Given the description of an element on the screen output the (x, y) to click on. 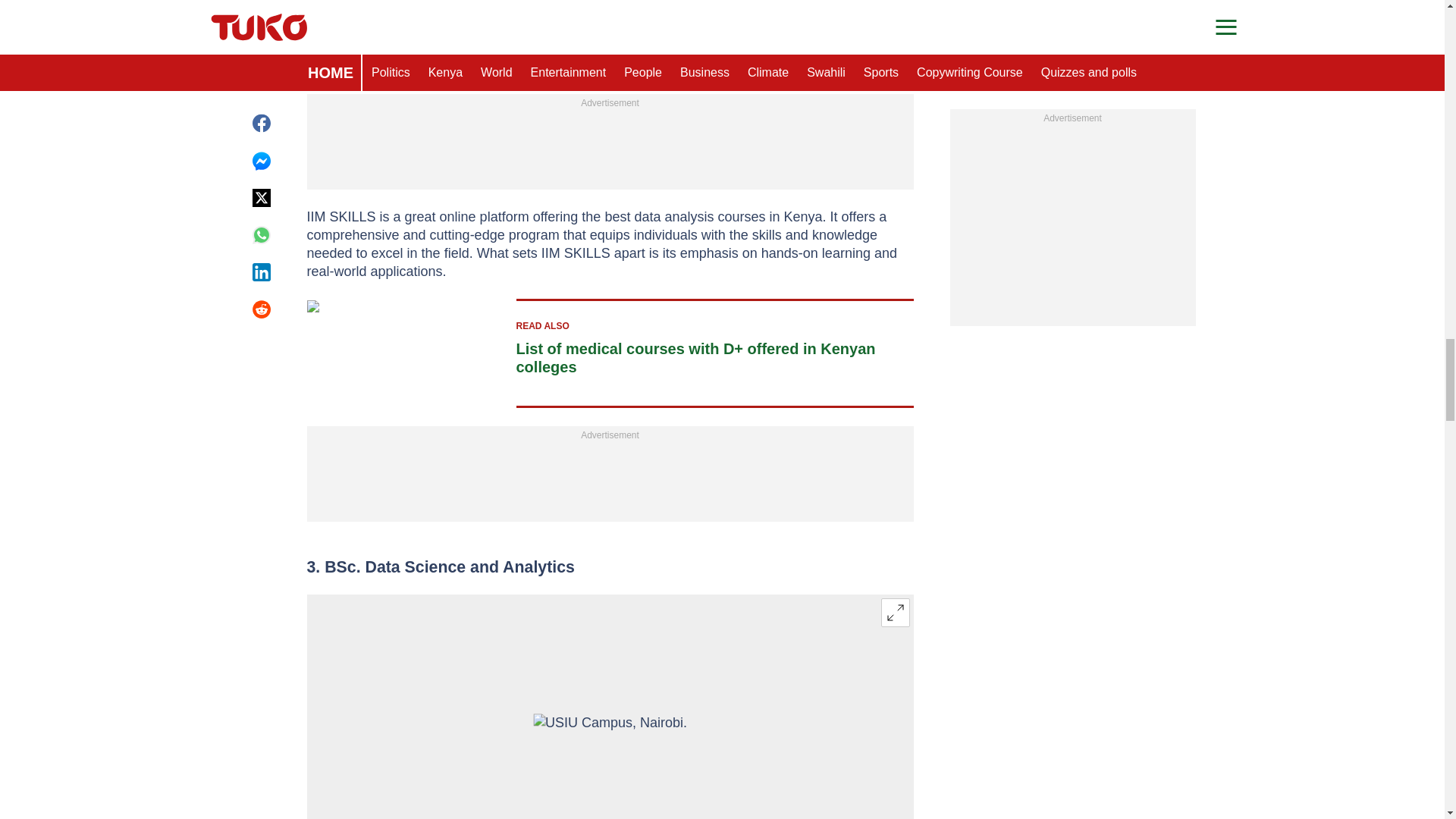
Expand image (895, 612)
USIU Campus, Nairobi. (609, 764)
